Given the description of an element on the screen output the (x, y) to click on. 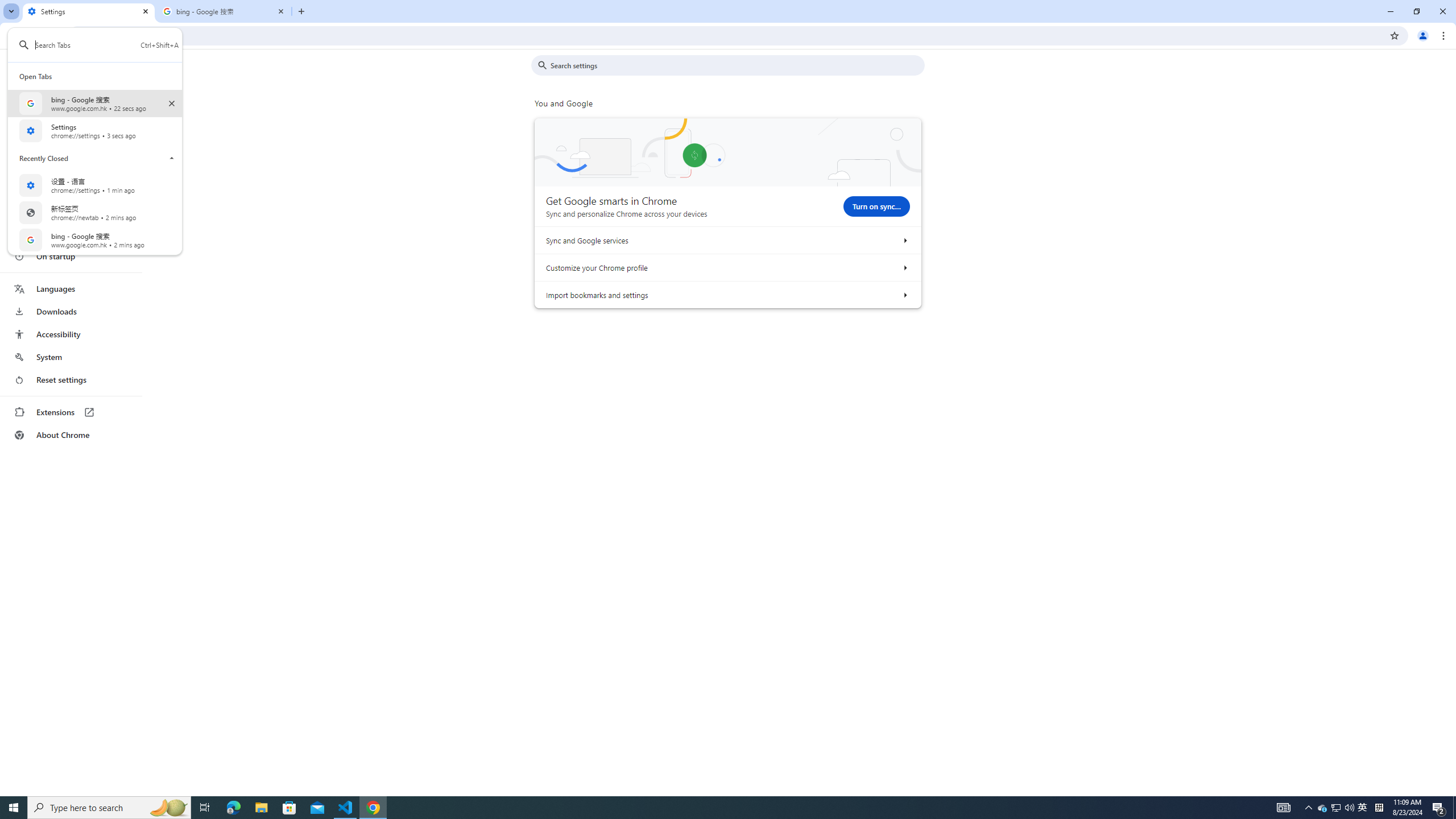
Reset settings (70, 379)
Search highlights icon opens search home window (167, 807)
Import bookmarks and settings (904, 294)
